Given the description of an element on the screen output the (x, y) to click on. 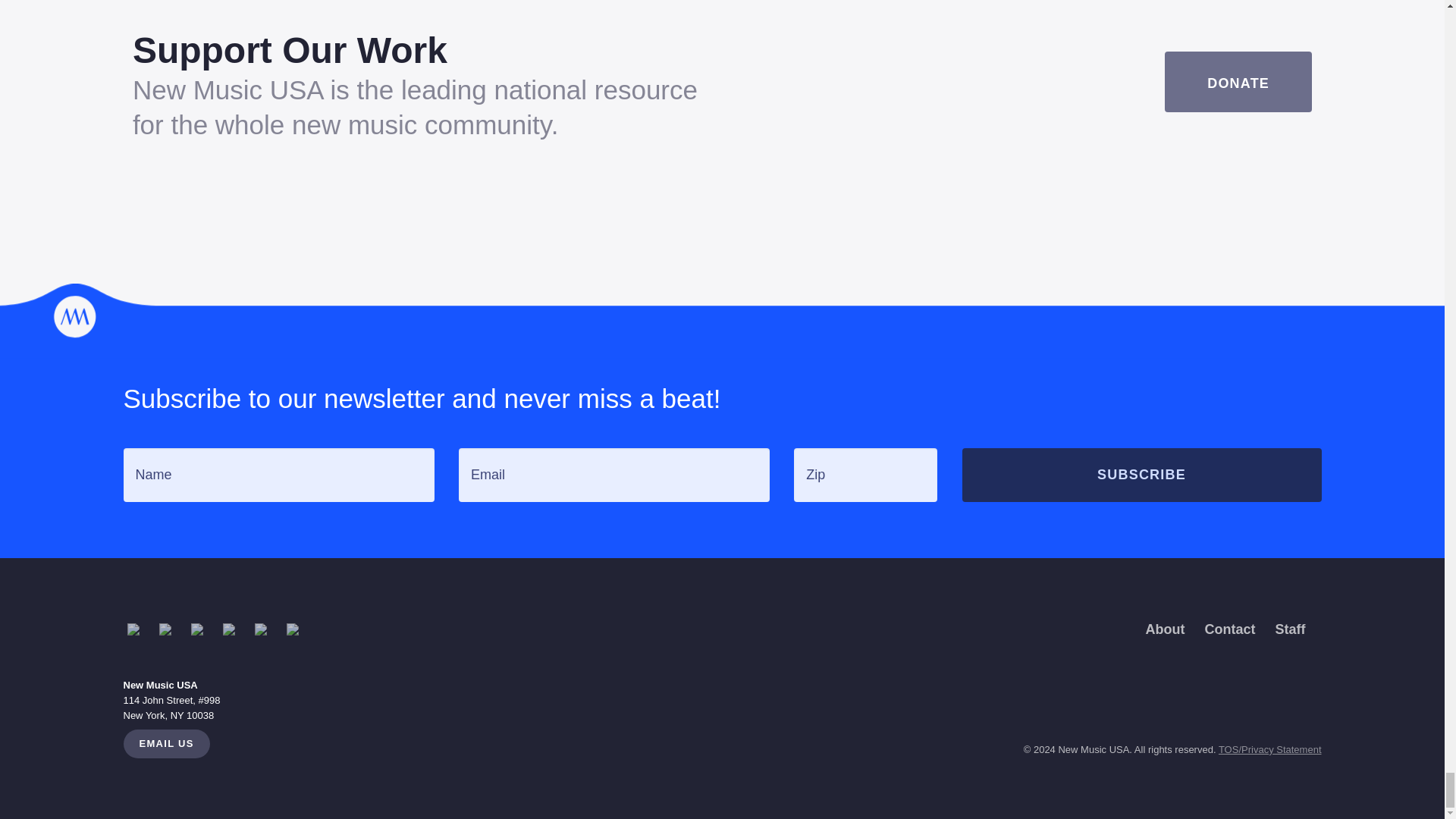
New Music USA YouTube (234, 629)
New Music USA Instagram (138, 629)
New Music USA Facebook (170, 629)
New Music USA Twitter (266, 629)
Subscribe (1140, 474)
New Music USA LinkedIn (202, 629)
New Music USA Vimeo (298, 629)
